Given the description of an element on the screen output the (x, y) to click on. 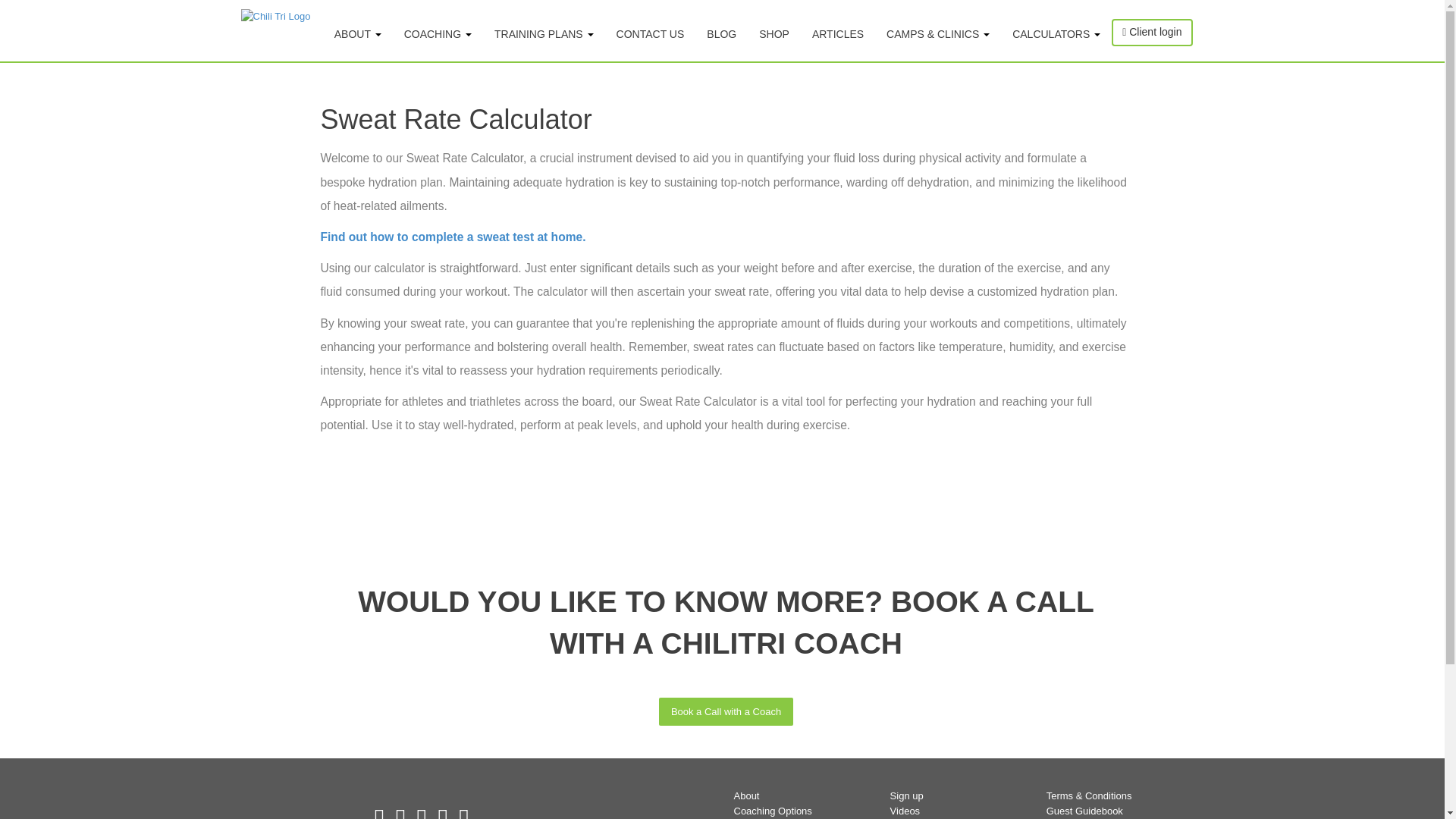
CONTACT US (650, 34)
COACHING (438, 34)
ARTICLES (837, 34)
CALCULATORS (1056, 34)
Client login (1152, 31)
SHOP (774, 34)
BLOG (721, 34)
TRAINING PLANS (544, 34)
ABOUT (358, 34)
